Given the description of an element on the screen output the (x, y) to click on. 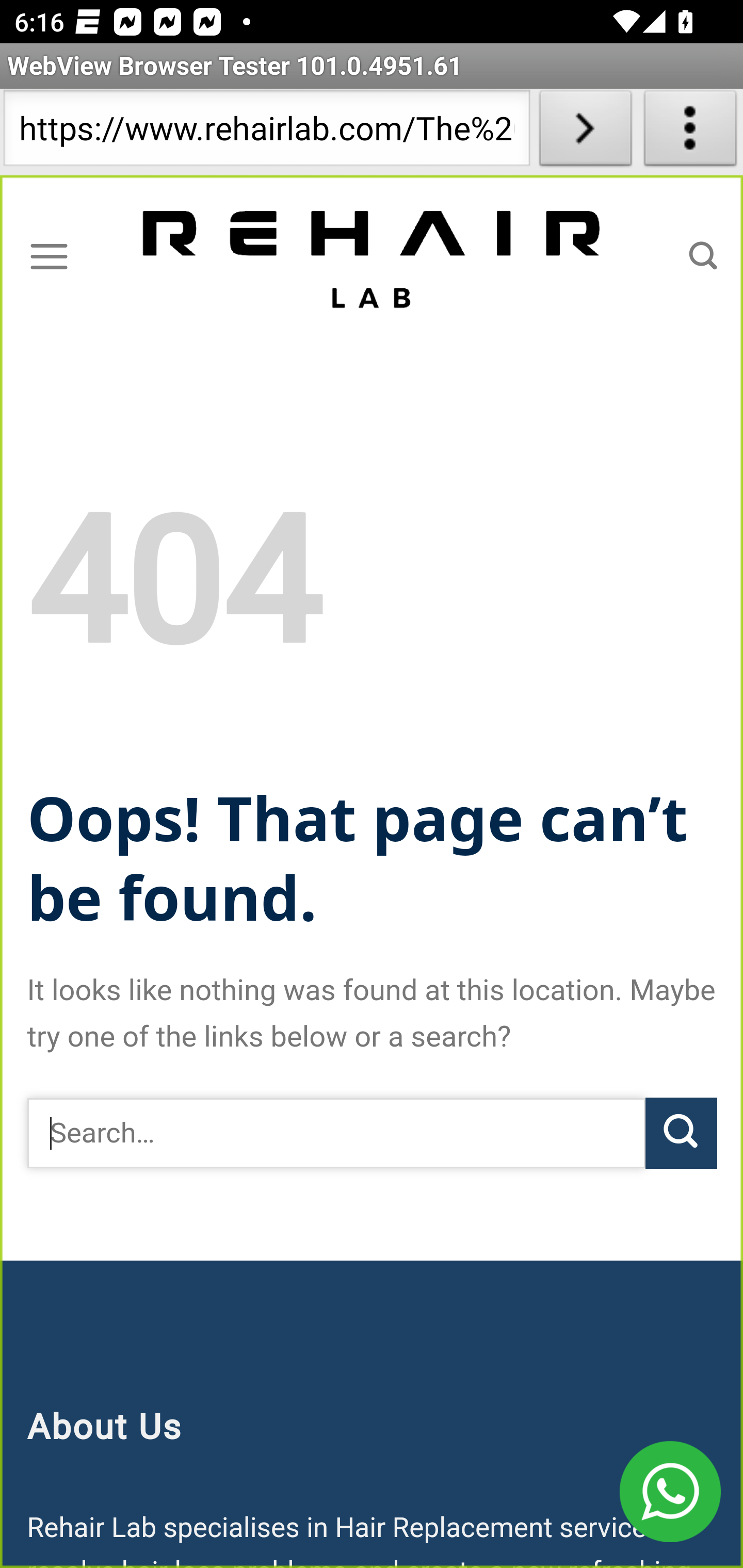
https://www.rehairlab.com/The%20Daily (266, 132)
Load URL (585, 132)
About WebView (690, 132)
Rehair Lab (372, 256)
Menu  (48, 256)
Search  (703, 256)
Submit (681, 1132)
wa.logo_-1 (669, 1491)
